Given the description of an element on the screen output the (x, y) to click on. 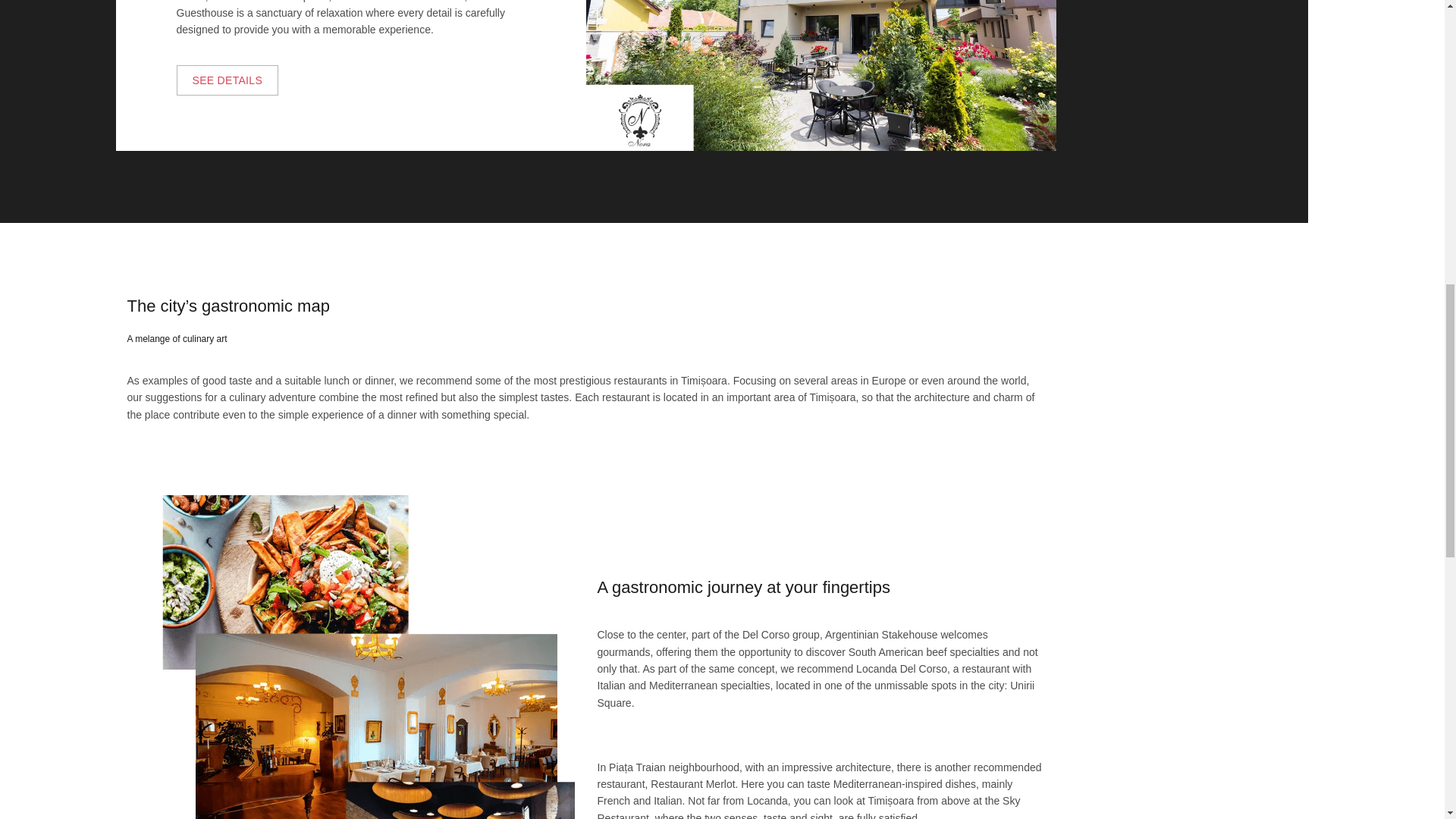
SEE DETAILS (227, 80)
Vezi detalii (227, 80)
